Given the description of an element on the screen output the (x, y) to click on. 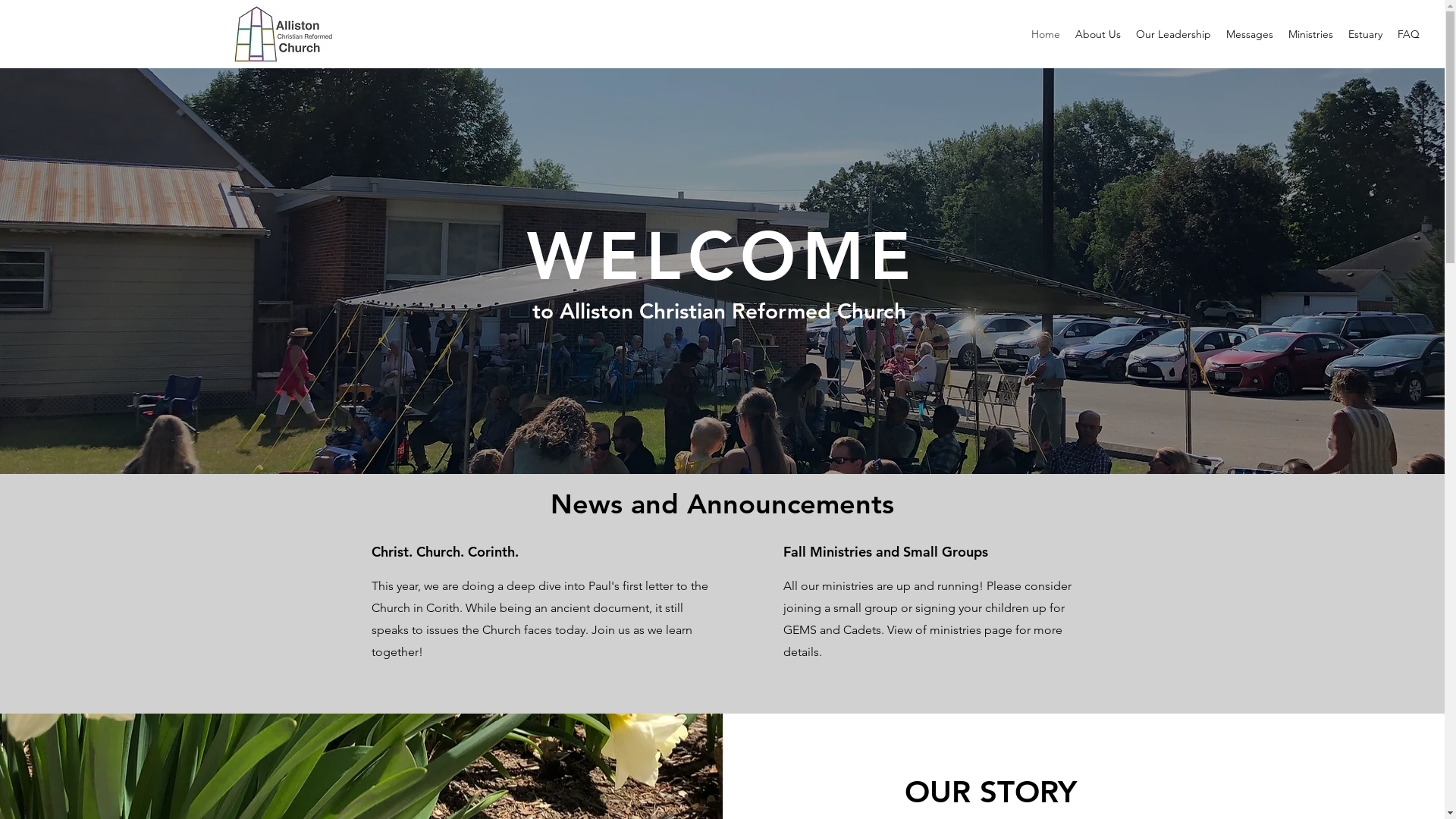
About Us Element type: text (1097, 34)
Estuary Element type: text (1365, 34)
FAQ Element type: text (1408, 34)
Messages Element type: text (1249, 34)
Ministries Element type: text (1310, 34)
Home Element type: text (1045, 34)
Our Leadership Element type: text (1173, 34)
